Given the description of an element on the screen output the (x, y) to click on. 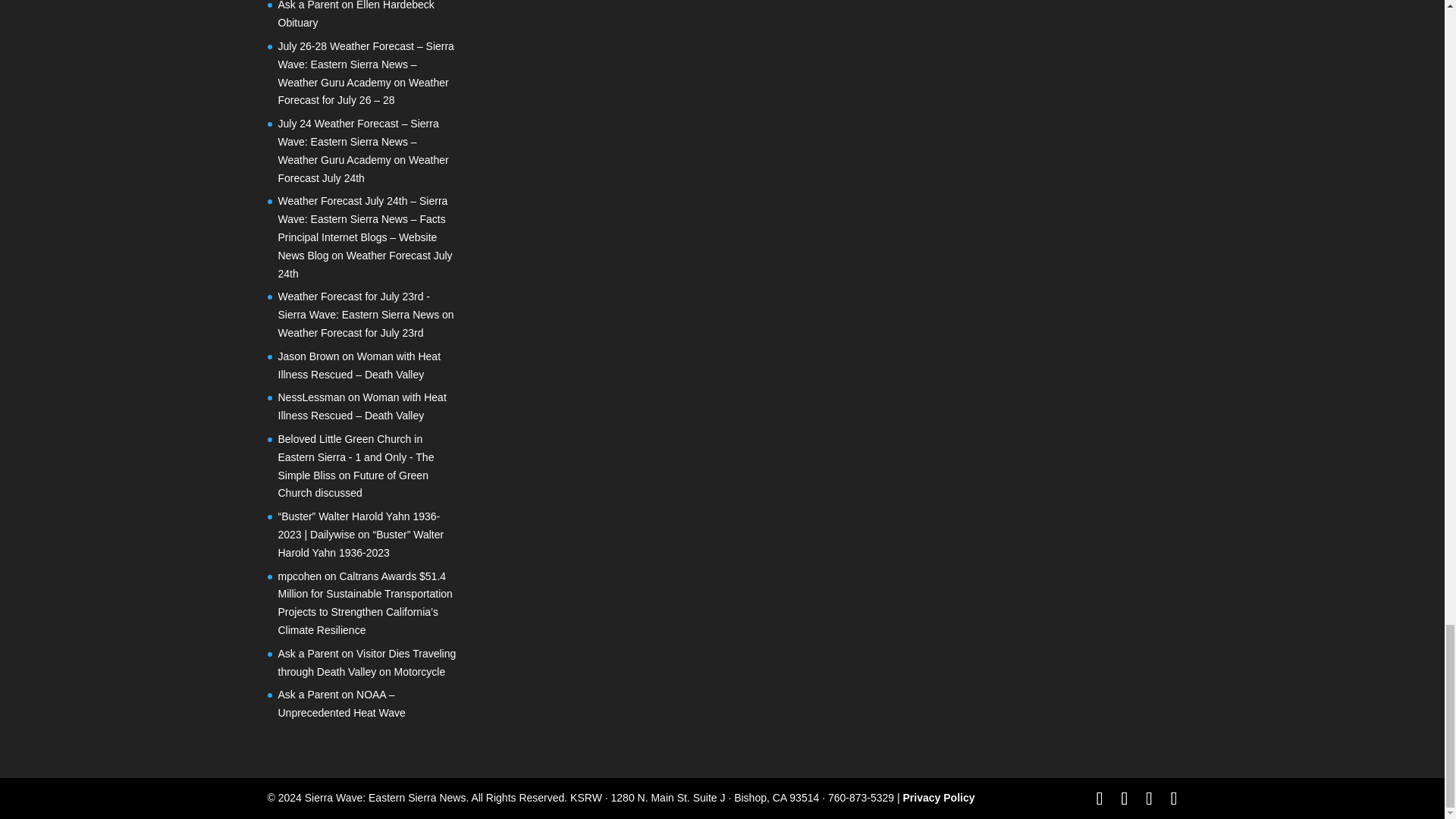
Ellen Hardebeck Obituary (355, 14)
